Given the description of an element on the screen output the (x, y) to click on. 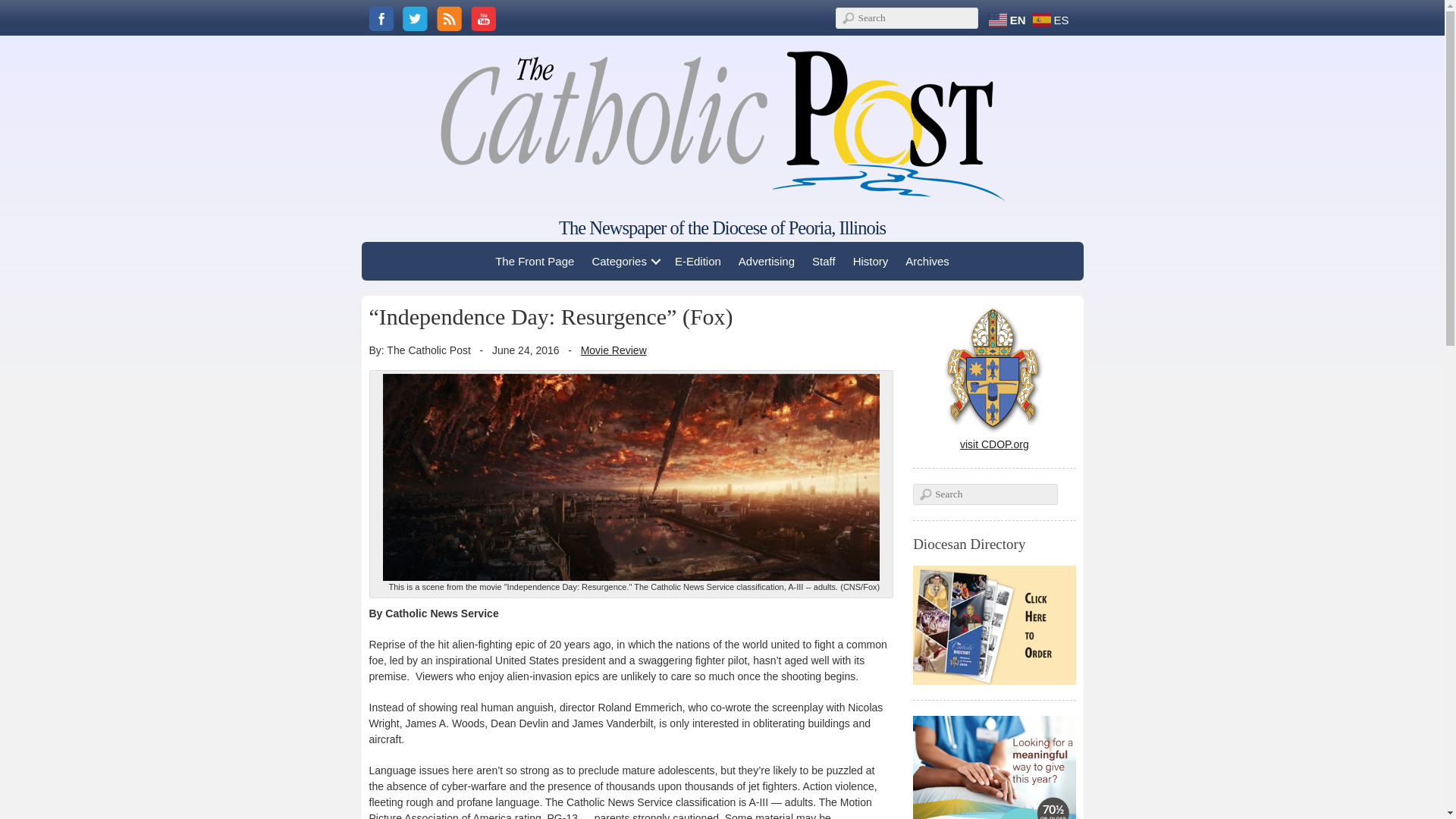
visit CDOP.org (994, 438)
Movie Review (613, 349)
The Front Page (534, 261)
visit CDOP.org (994, 438)
History (870, 261)
Advertising (766, 261)
English (1008, 19)
Staff (823, 261)
Diocesan Directory (993, 624)
E-Edition (697, 261)
ES (1052, 19)
EN (1008, 19)
Categories (624, 261)
The Newspaper of the Diocese of Peoria, Illinois (722, 227)
Archives (927, 261)
